Given the description of an element on the screen output the (x, y) to click on. 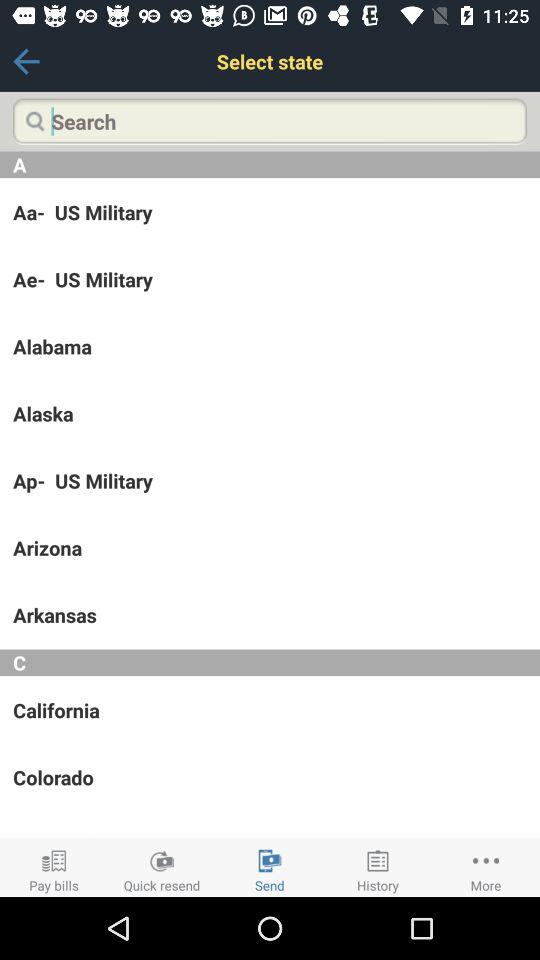
click the arizona icon (270, 547)
